Given the description of an element on the screen output the (x, y) to click on. 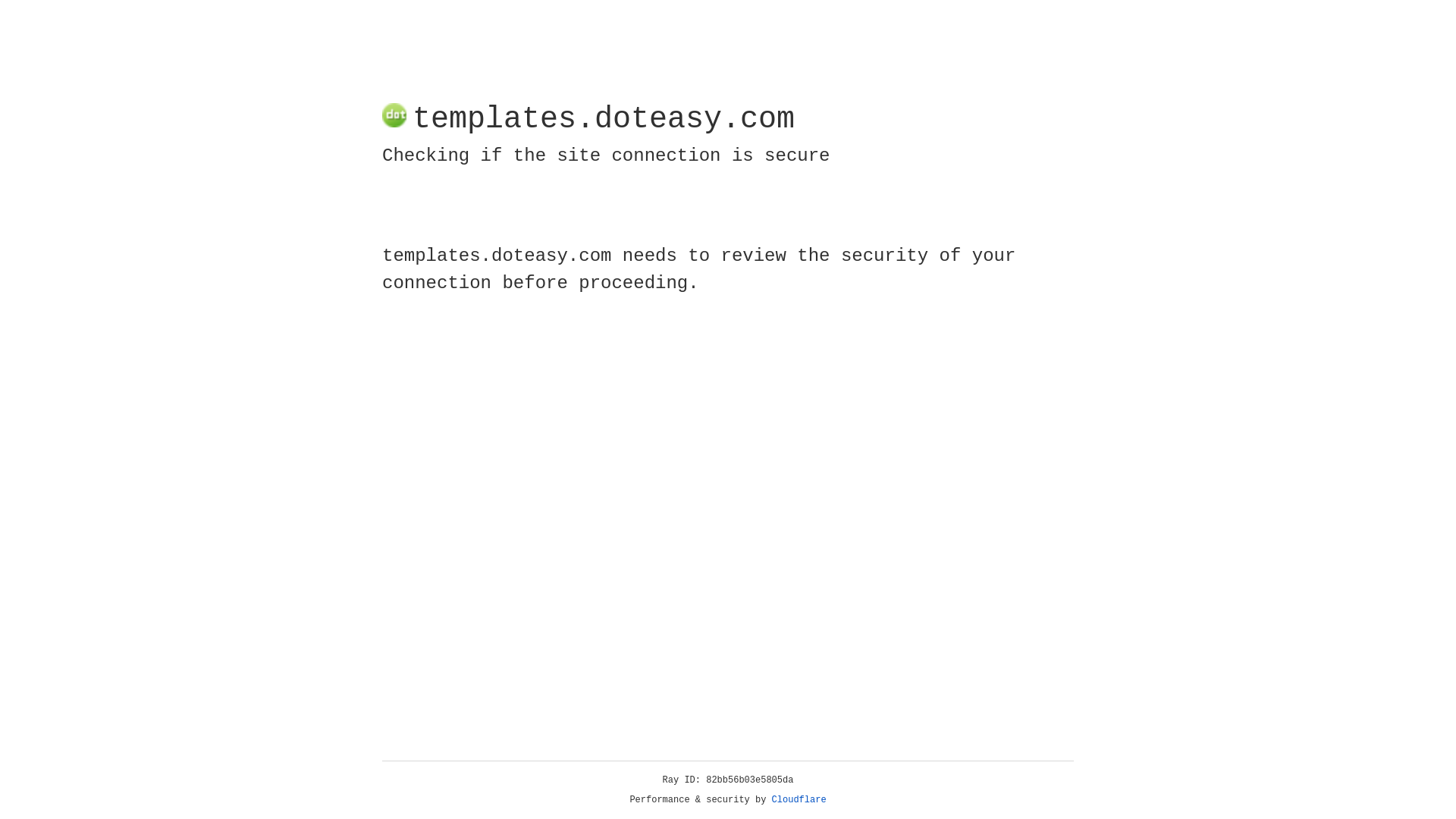
Cloudflare Element type: text (798, 799)
